Given the description of an element on the screen output the (x, y) to click on. 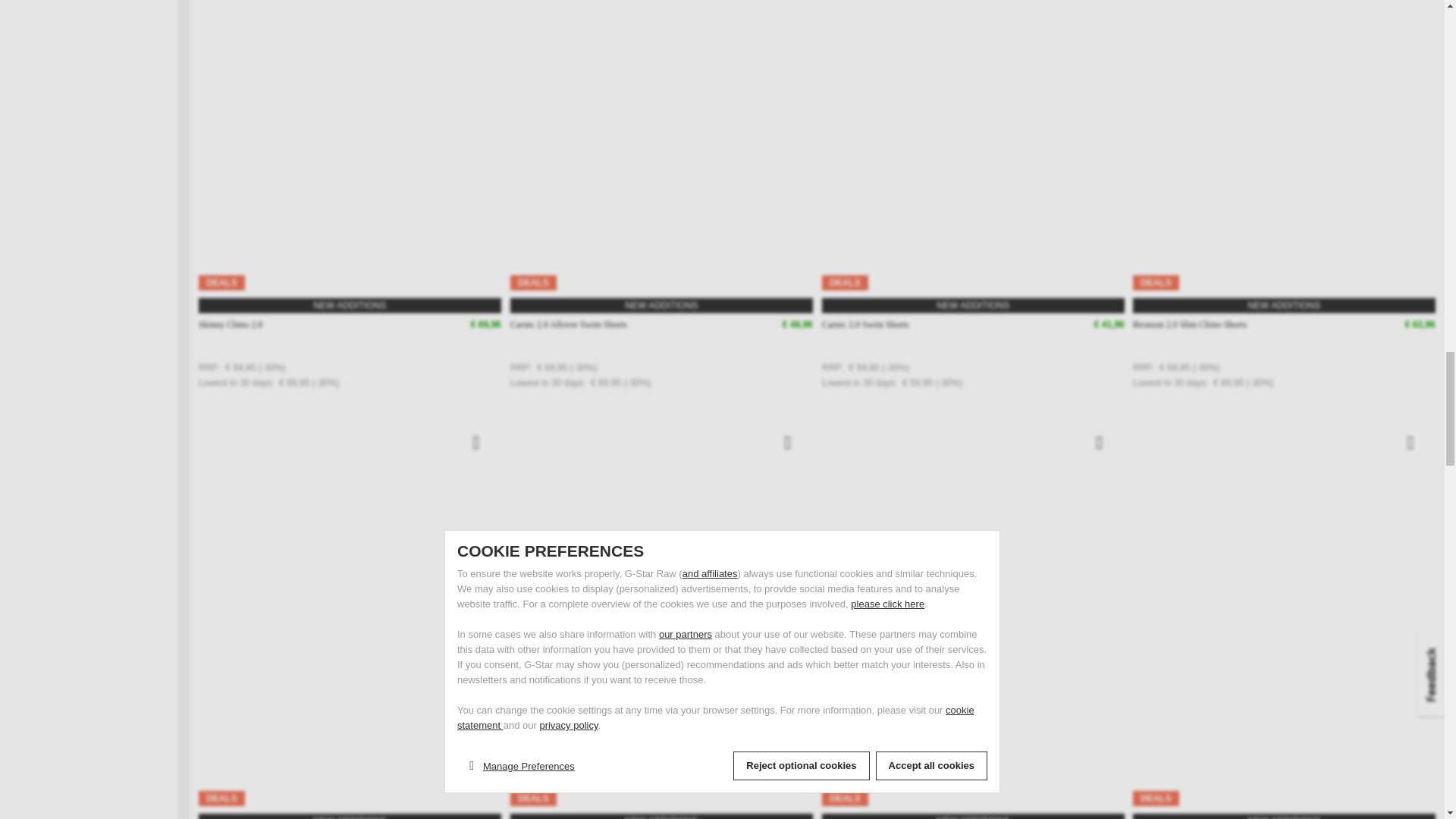
Skinny Chino 2.0 (230, 324)
